Given the description of an element on the screen output the (x, y) to click on. 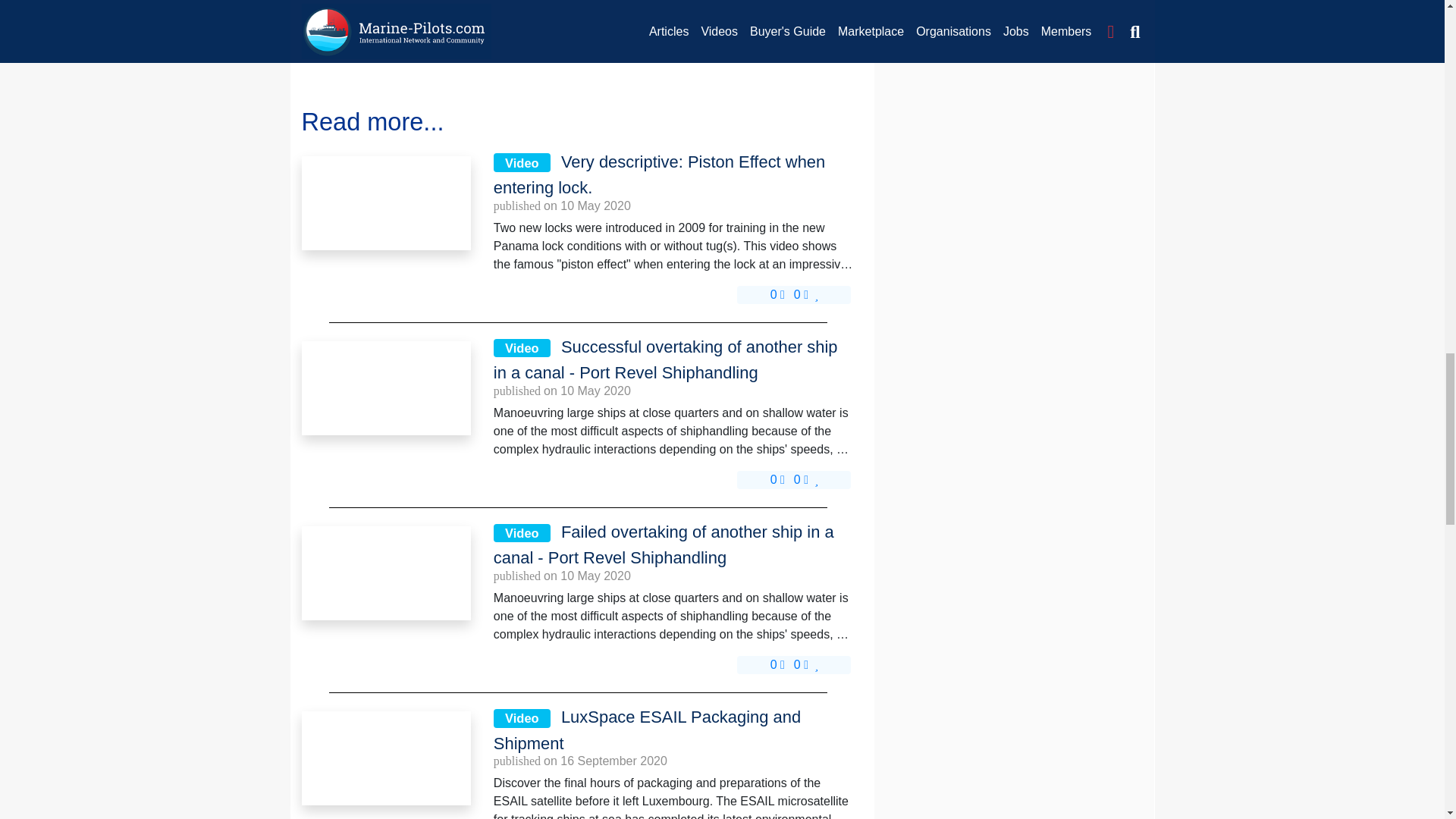
0 (777, 294)
LuxSpace ESAIL Packaging and Shipment (385, 758)
Login (323, 42)
register (376, 42)
Very descriptive: Piston Effect when entering lock. (385, 203)
Video Very descriptive: Piston Effect when entering lock. (674, 175)
